Given the description of an element on the screen output the (x, y) to click on. 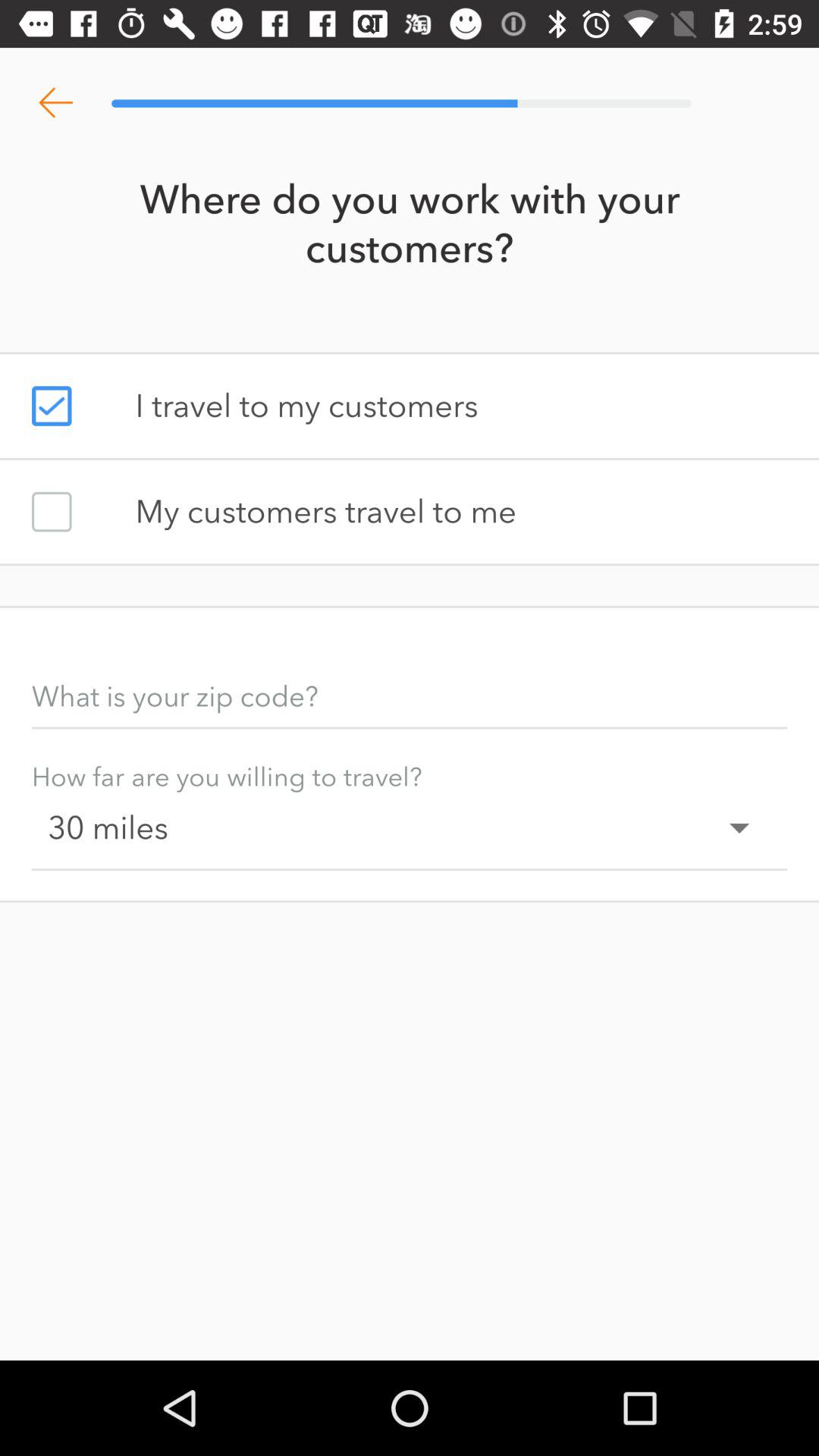
go to previous (55, 103)
